Given the description of an element on the screen output the (x, y) to click on. 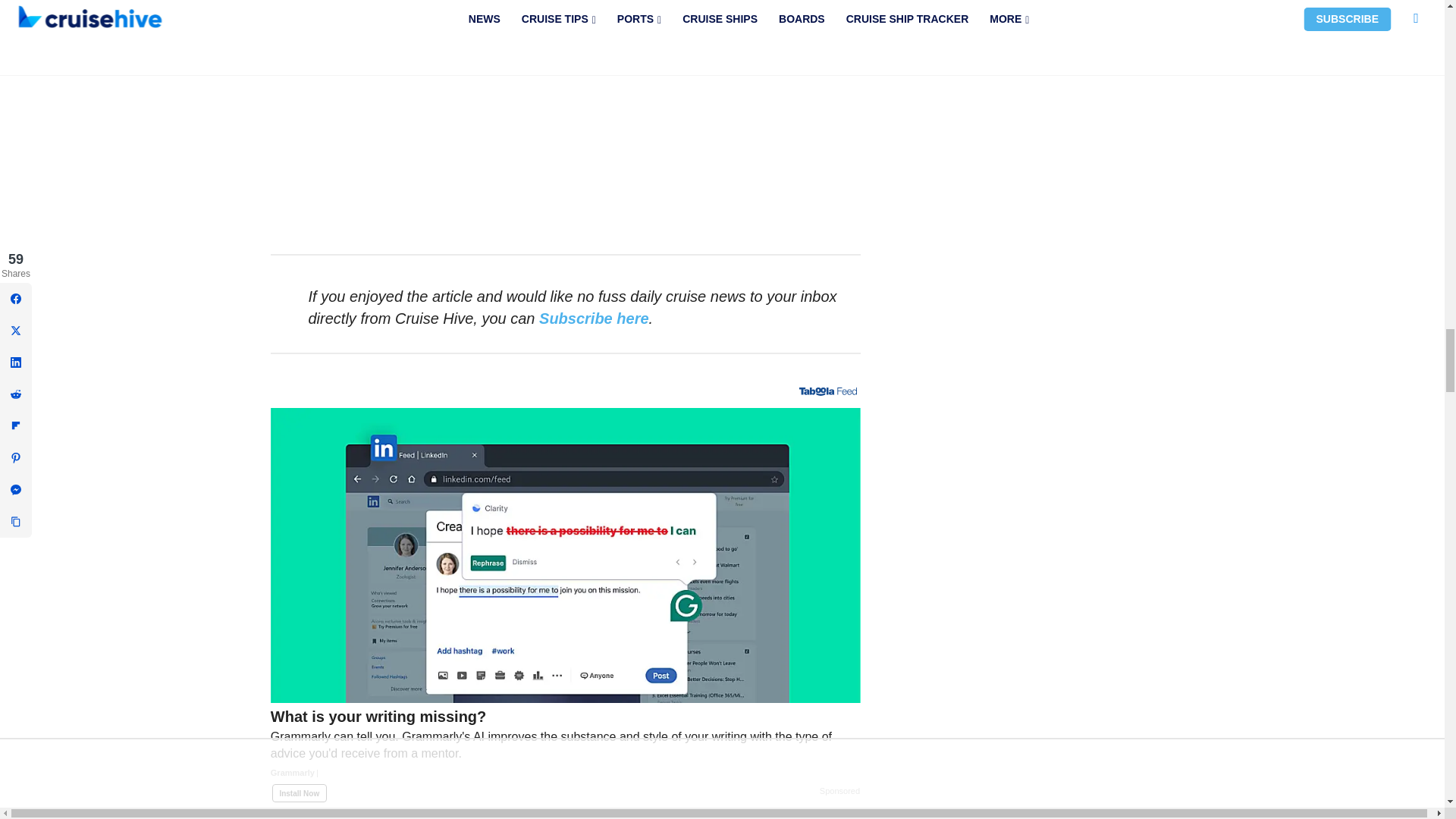
What is your writing missing? (565, 750)
